Given the description of an element on the screen output the (x, y) to click on. 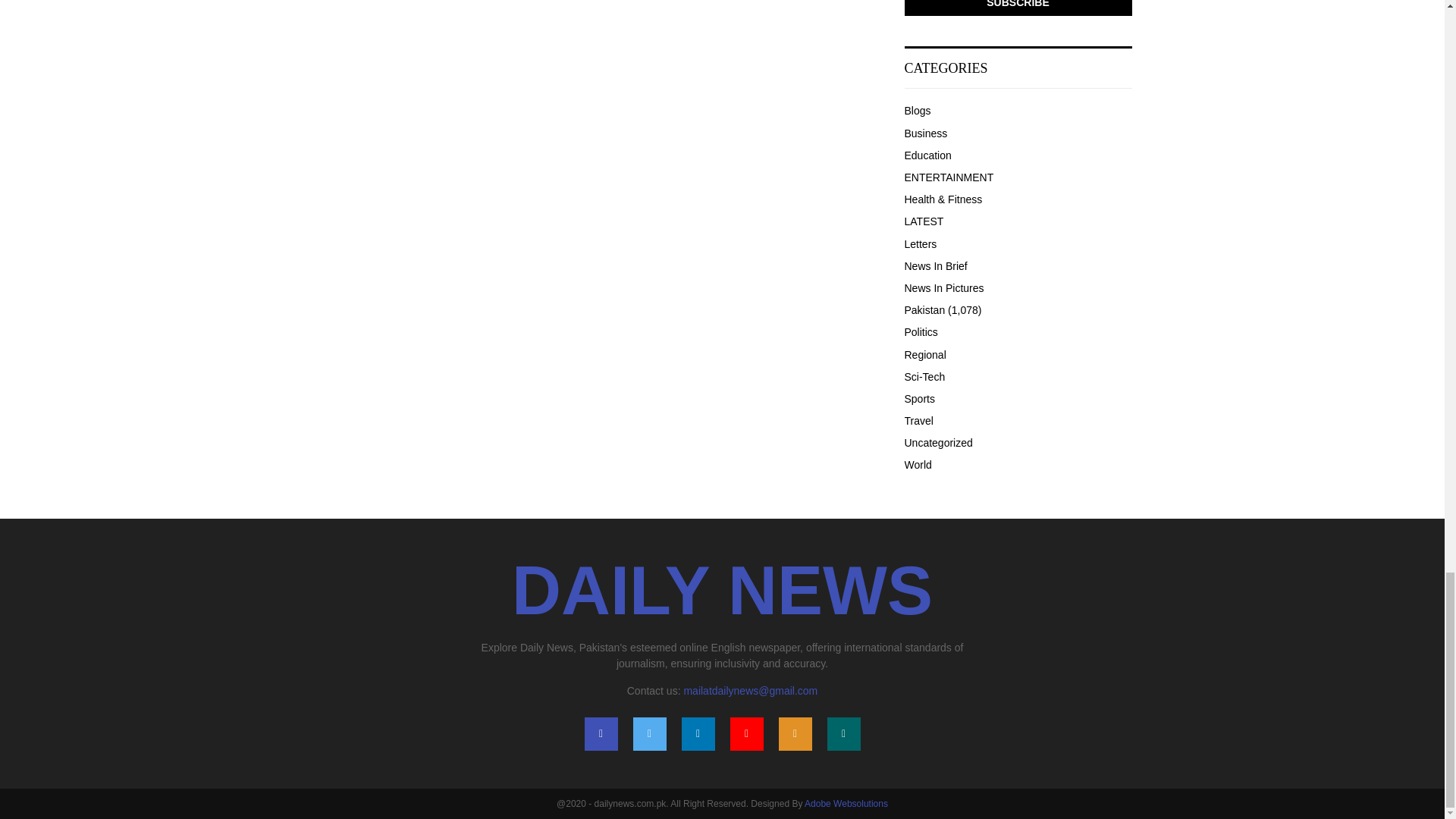
Subscribe (1017, 7)
